Given the description of an element on the screen output the (x, y) to click on. 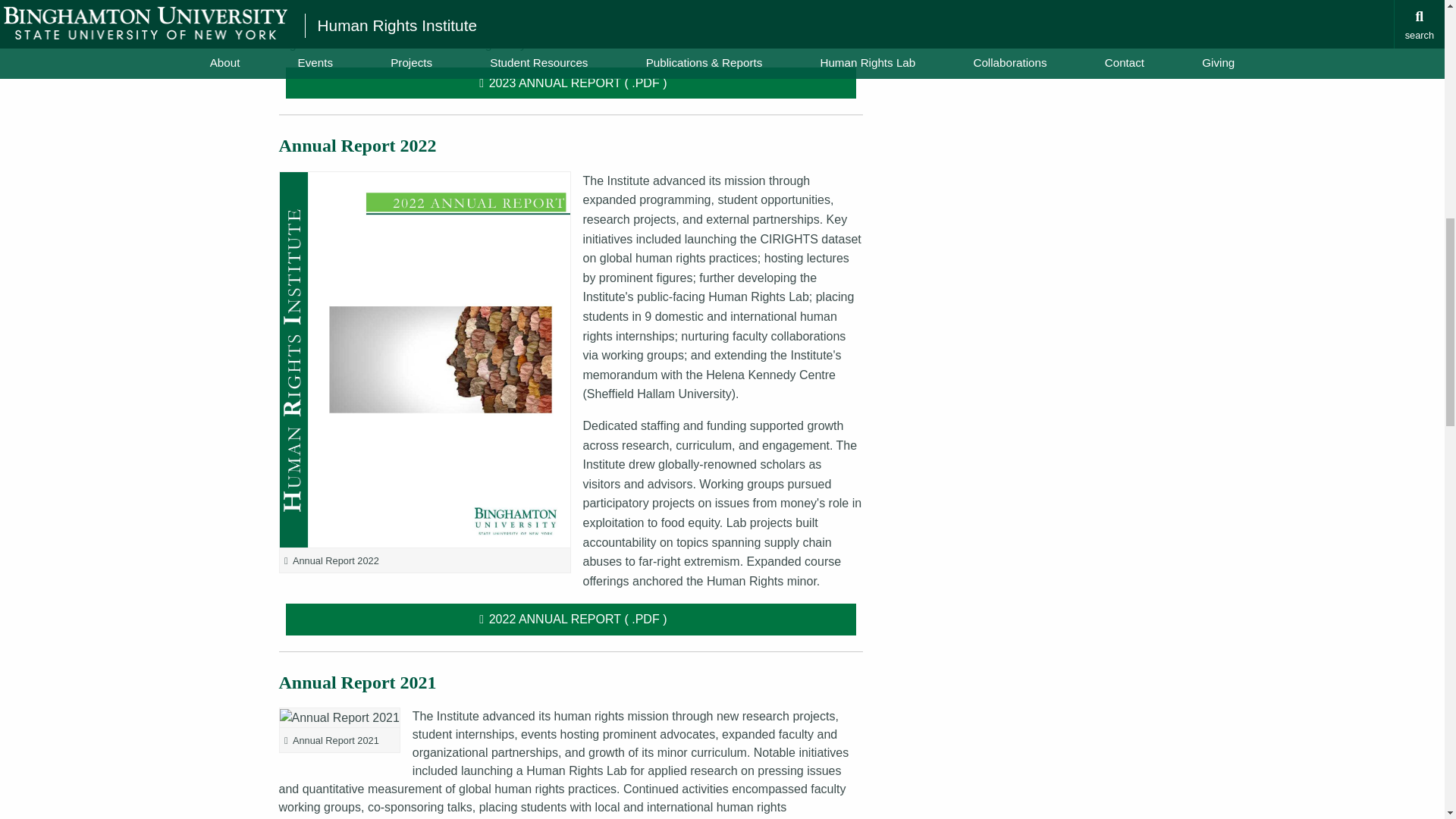
2023 ANNUAL REPORT (571, 82)
2022 ANNUAL REPORT (571, 619)
Annual Report 2023 (571, 82)
